Given the description of an element on the screen output the (x, y) to click on. 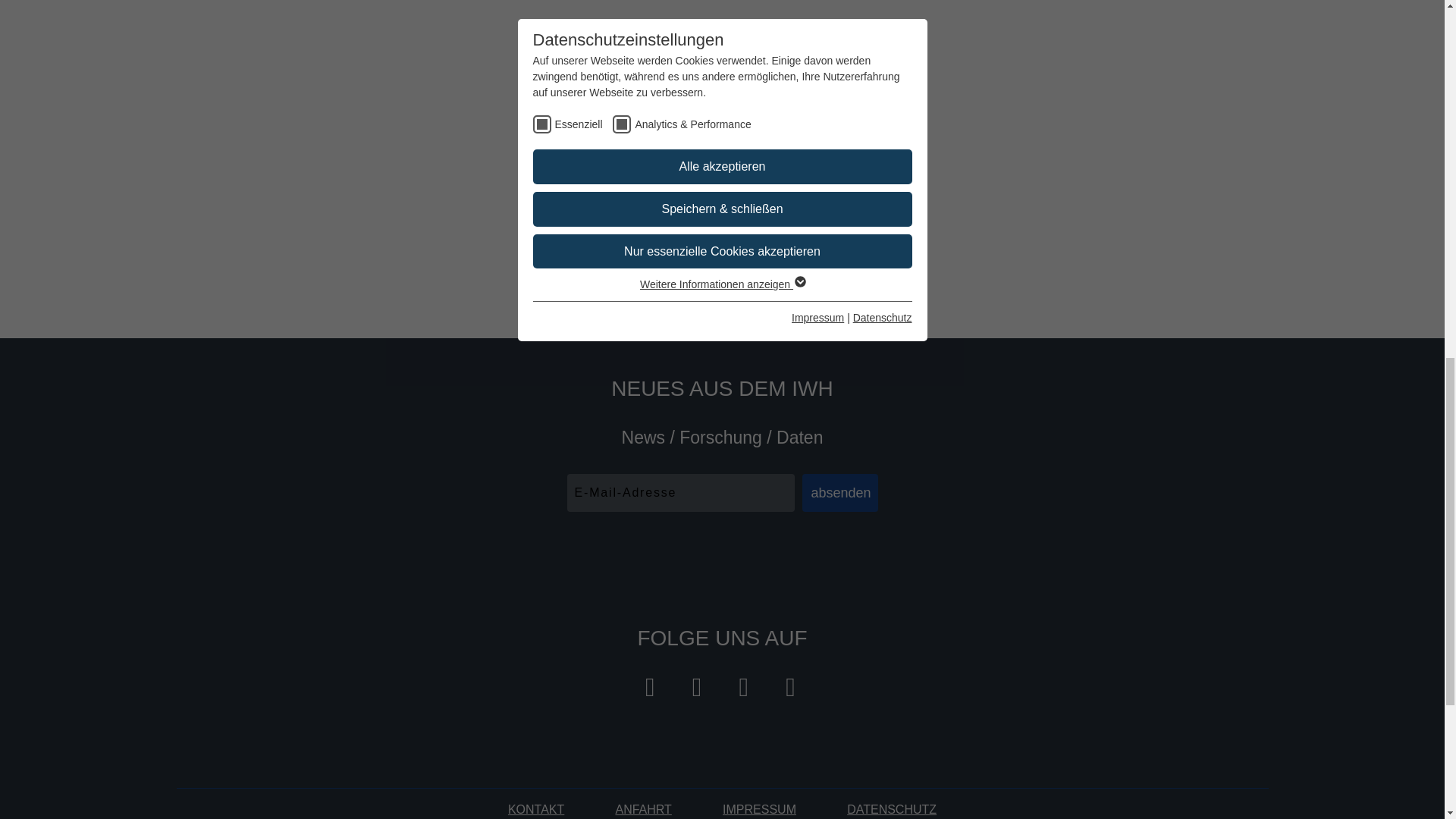
absenden (839, 492)
absenden (824, 11)
